Given the description of an element on the screen output the (x, y) to click on. 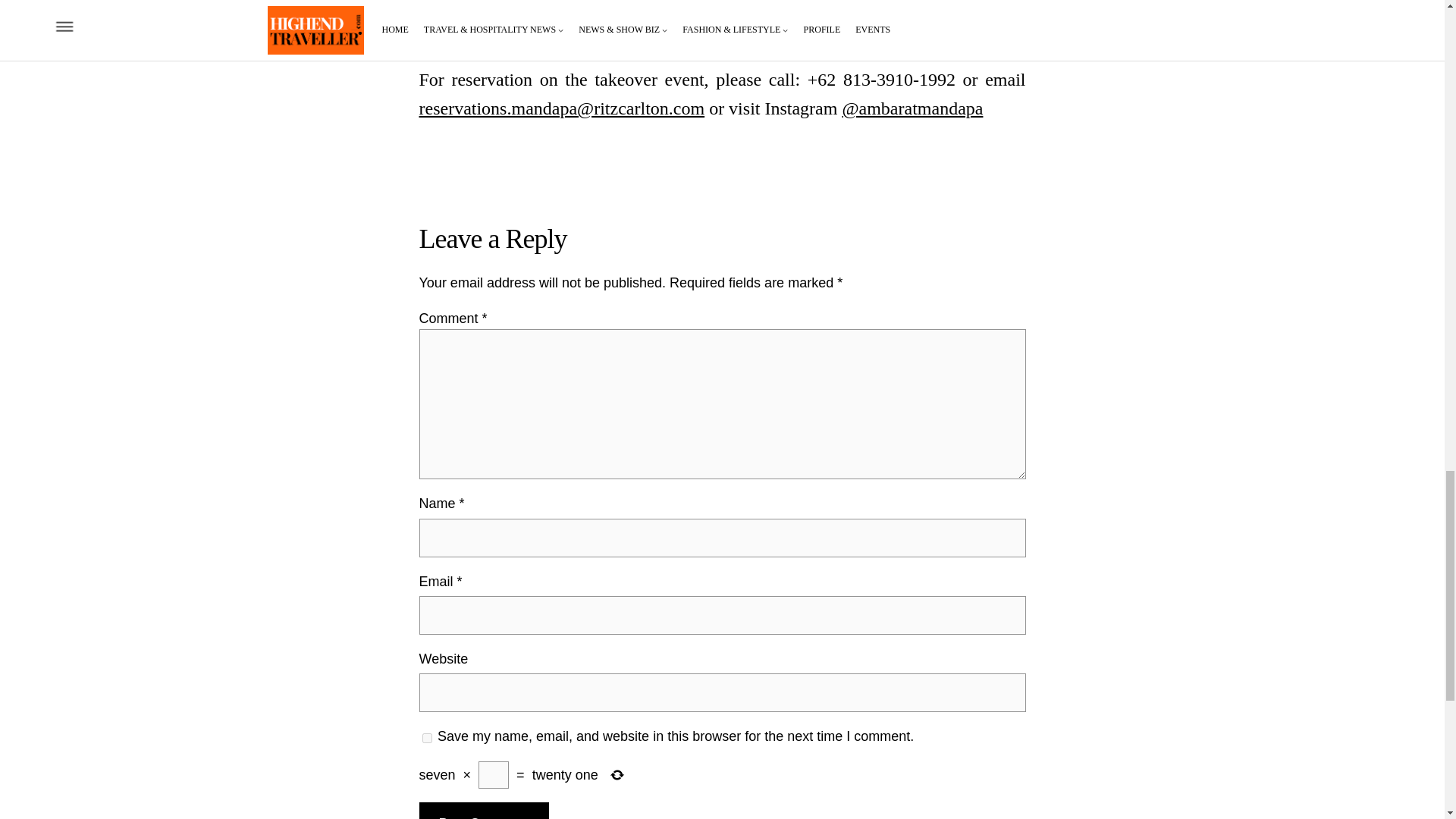
Post Comment (483, 810)
Post Comment (483, 810)
